Given the description of an element on the screen output the (x, y) to click on. 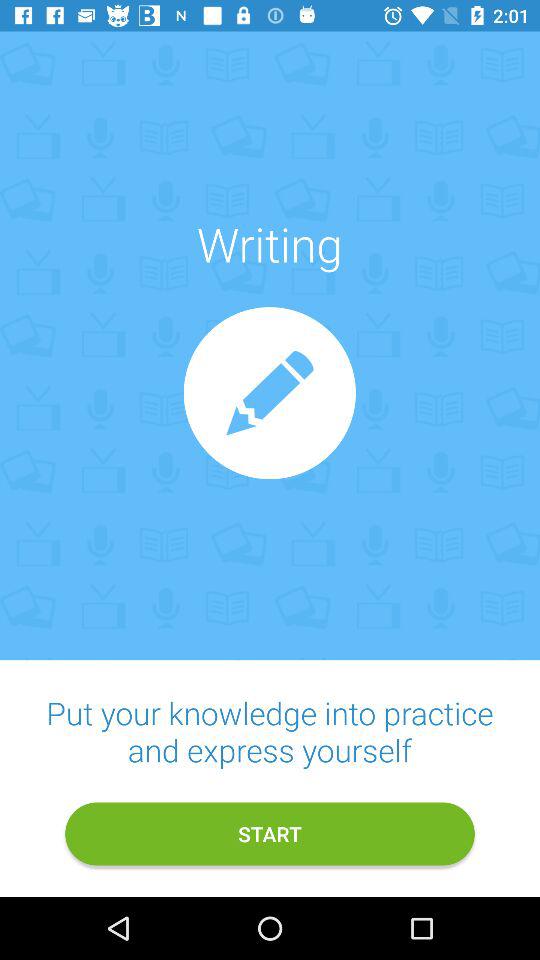
flip until the start (269, 833)
